Given the description of an element on the screen output the (x, y) to click on. 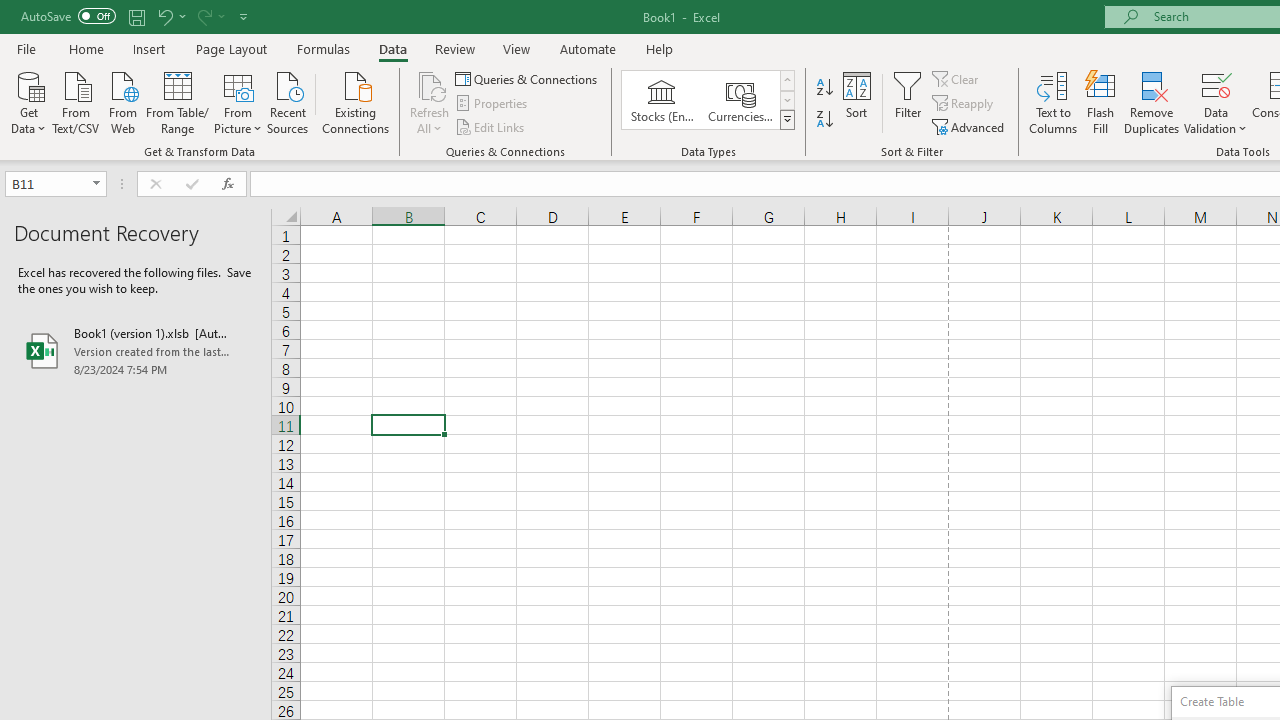
Get Data (28, 101)
Row Down (786, 100)
Redo (209, 15)
Advanced... (970, 126)
Flash Fill (1101, 102)
Clear (957, 78)
AutoSave (68, 16)
Redo (203, 15)
Properties (492, 103)
Save (136, 15)
Refresh All (429, 84)
Reapply (964, 103)
From Table/Range (177, 101)
Home (86, 48)
Queries & Connections (527, 78)
